Given the description of an element on the screen output the (x, y) to click on. 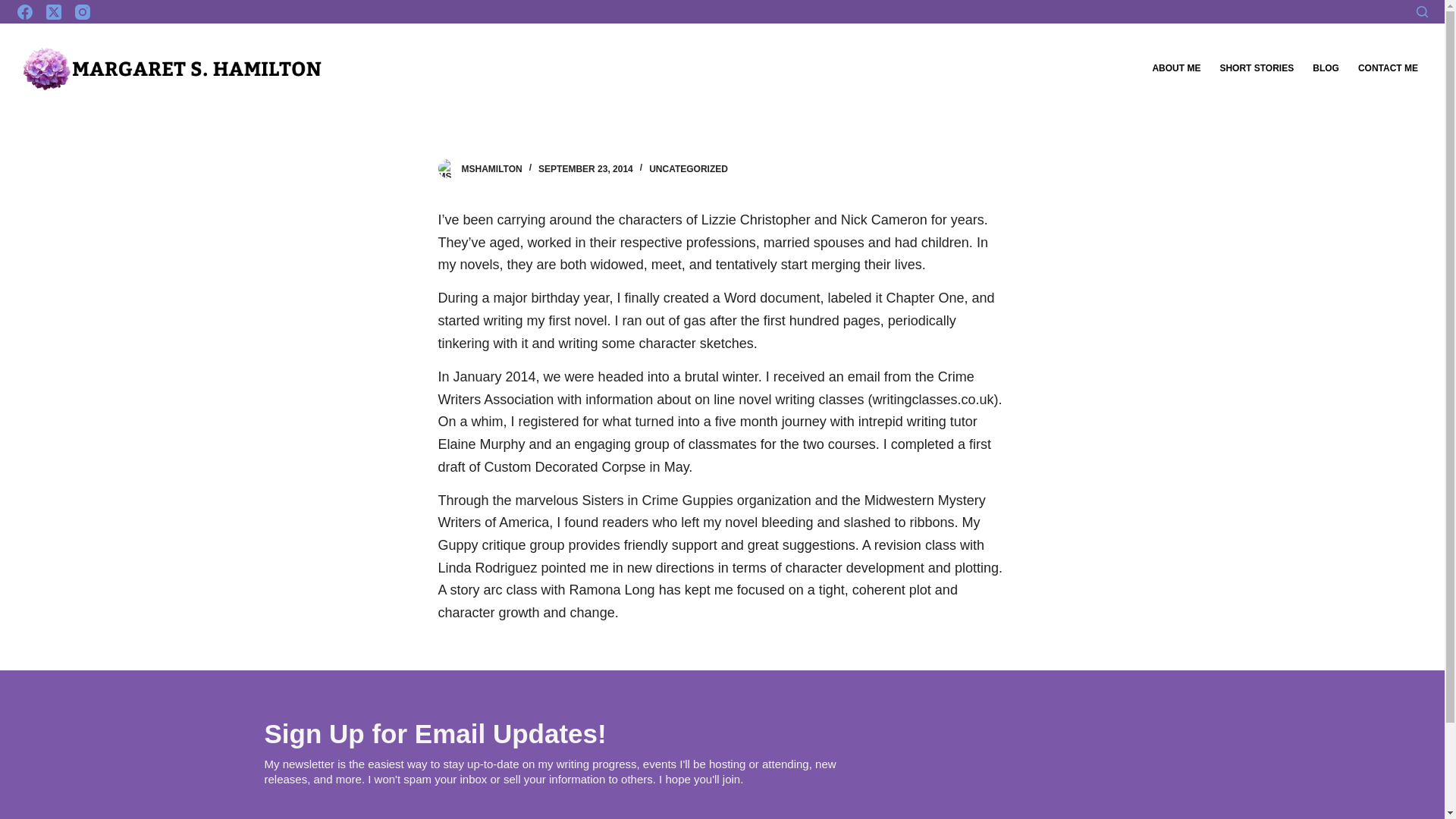
CONTACT ME (1387, 69)
ABOUT ME (1175, 69)
SHORT STORIES (1256, 69)
MSHAMILTON (491, 168)
BLOG (1326, 69)
UNCATEGORIZED (688, 168)
Posts by mshamilton (491, 168)
Skip to content (15, 7)
